Given the description of an element on the screen output the (x, y) to click on. 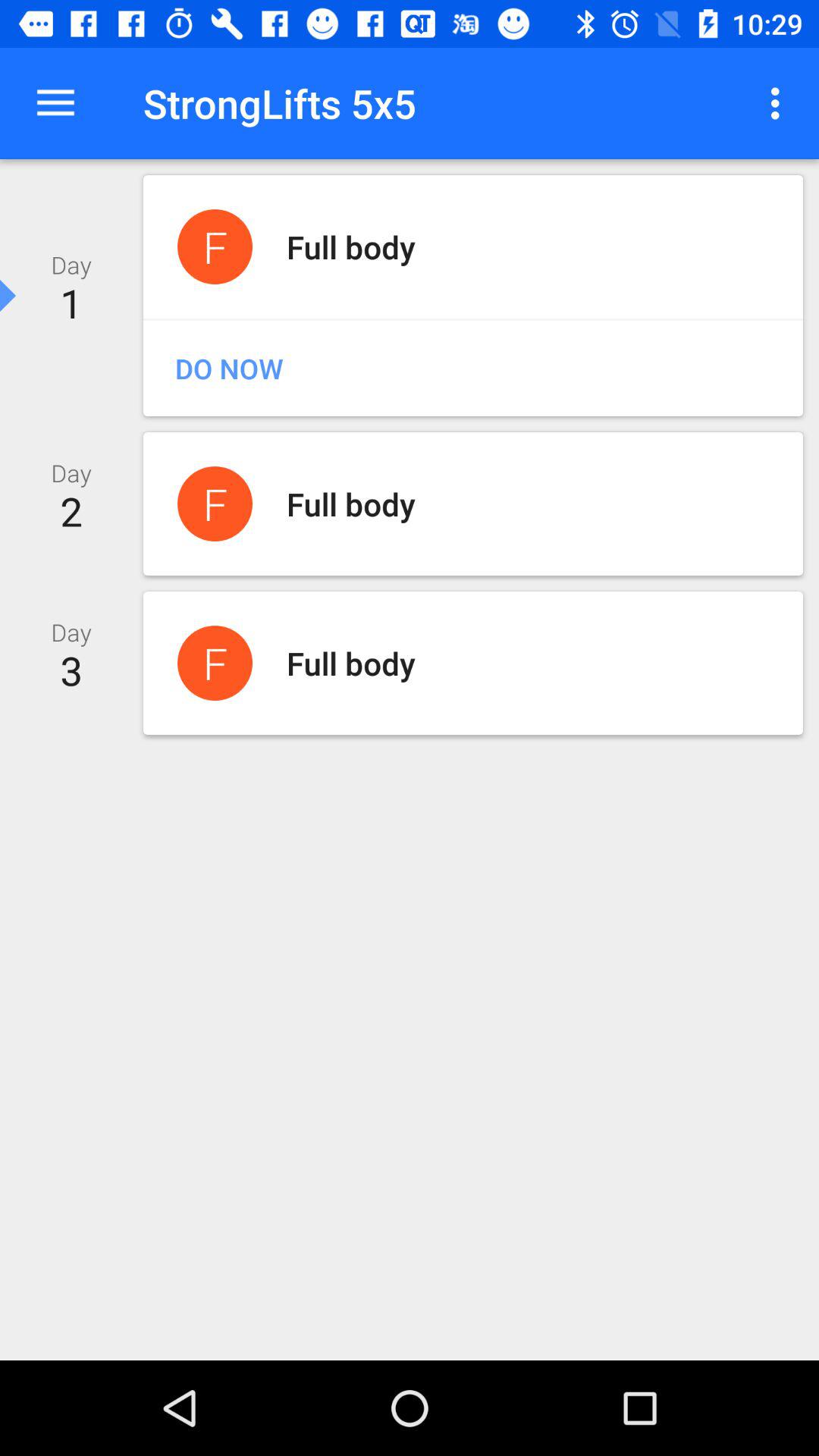
tap the icon next to the stronglifts 5x5 (779, 103)
